Given the description of an element on the screen output the (x, y) to click on. 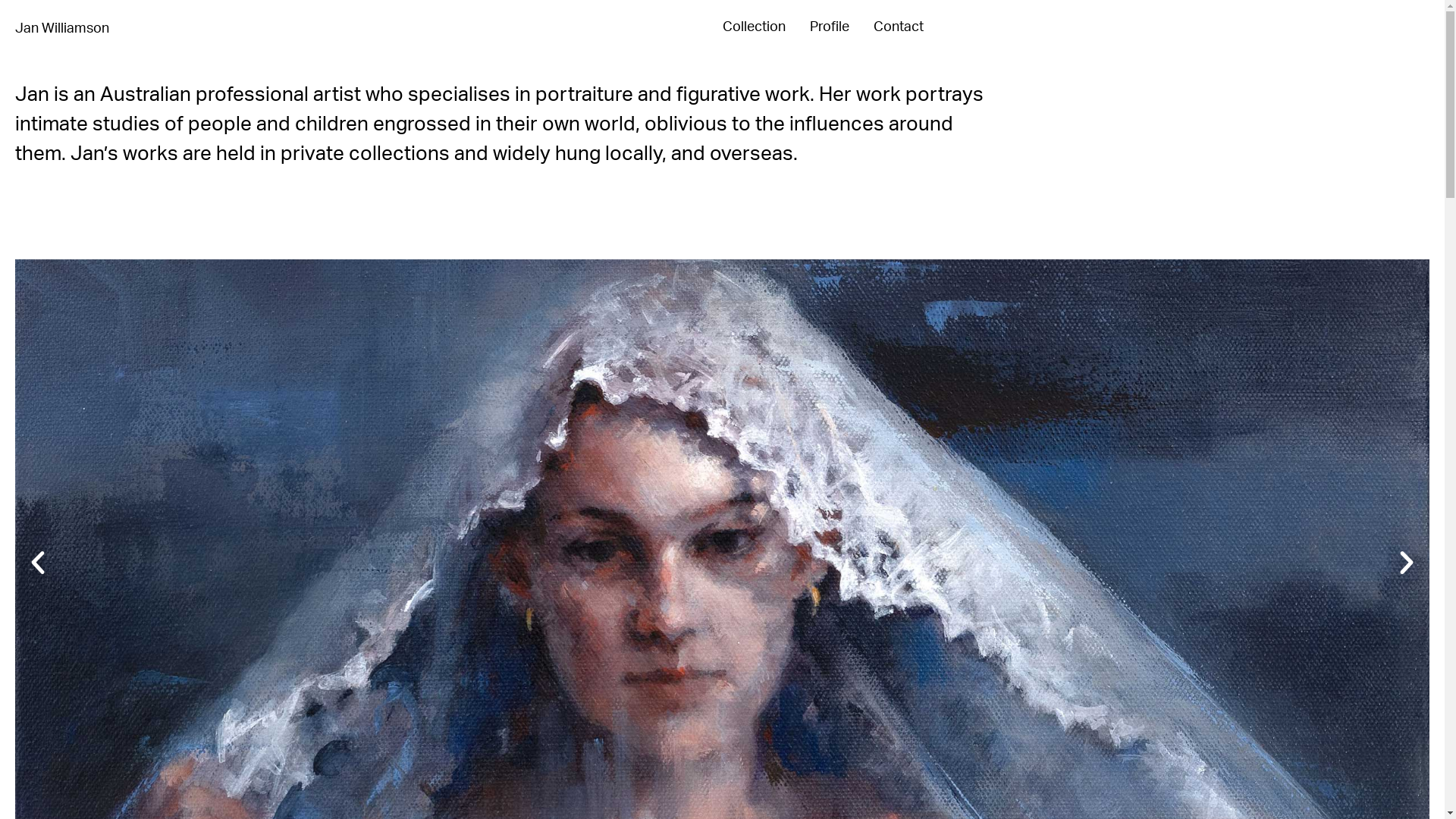
Profile Element type: text (829, 27)
Contact Element type: text (898, 27)
Collection Element type: text (752, 27)
Jan Williamson Element type: text (62, 28)
